Given the description of an element on the screen output the (x, y) to click on. 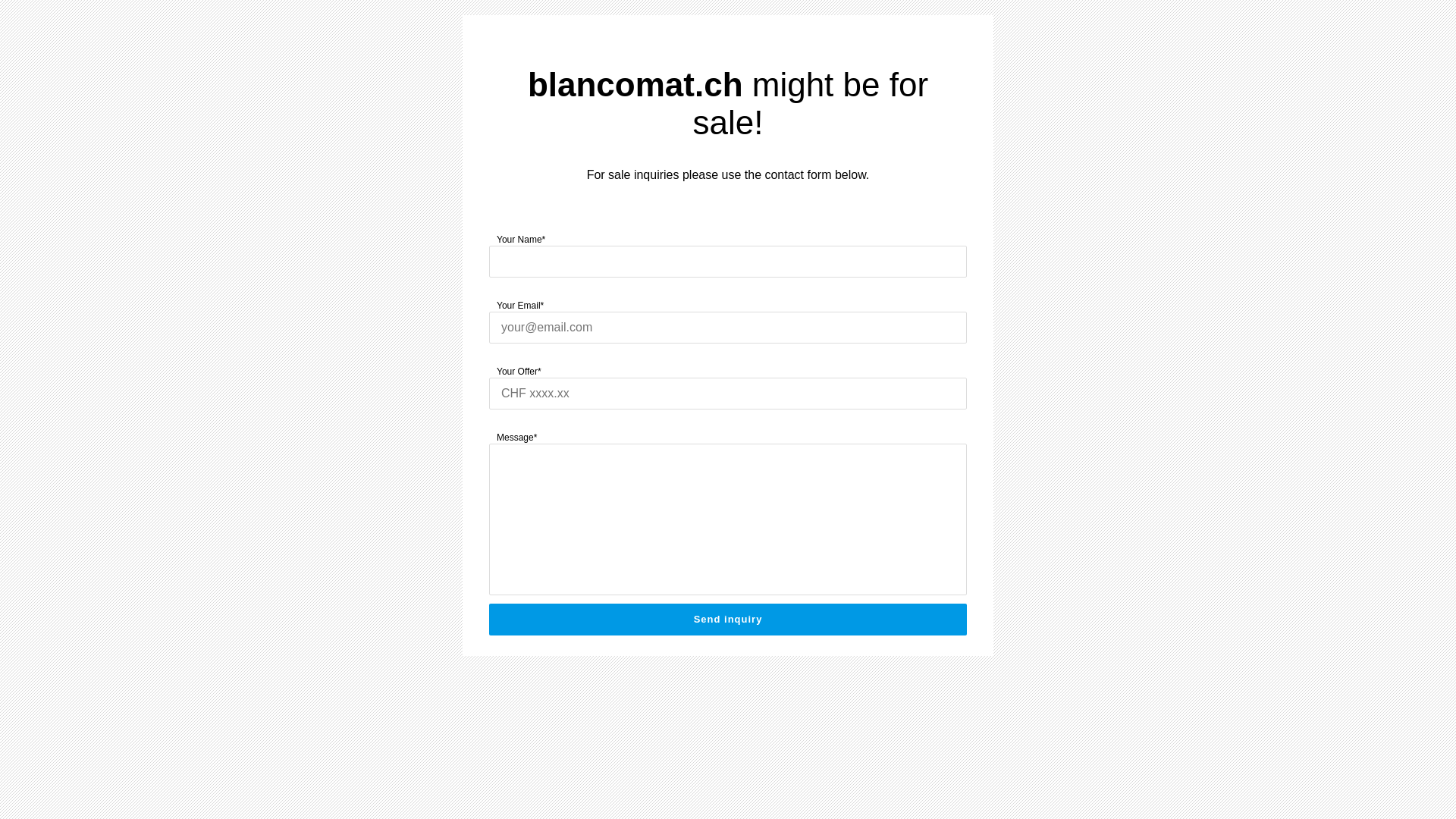
Send inquiry Element type: text (727, 619)
